Given the description of an element on the screen output the (x, y) to click on. 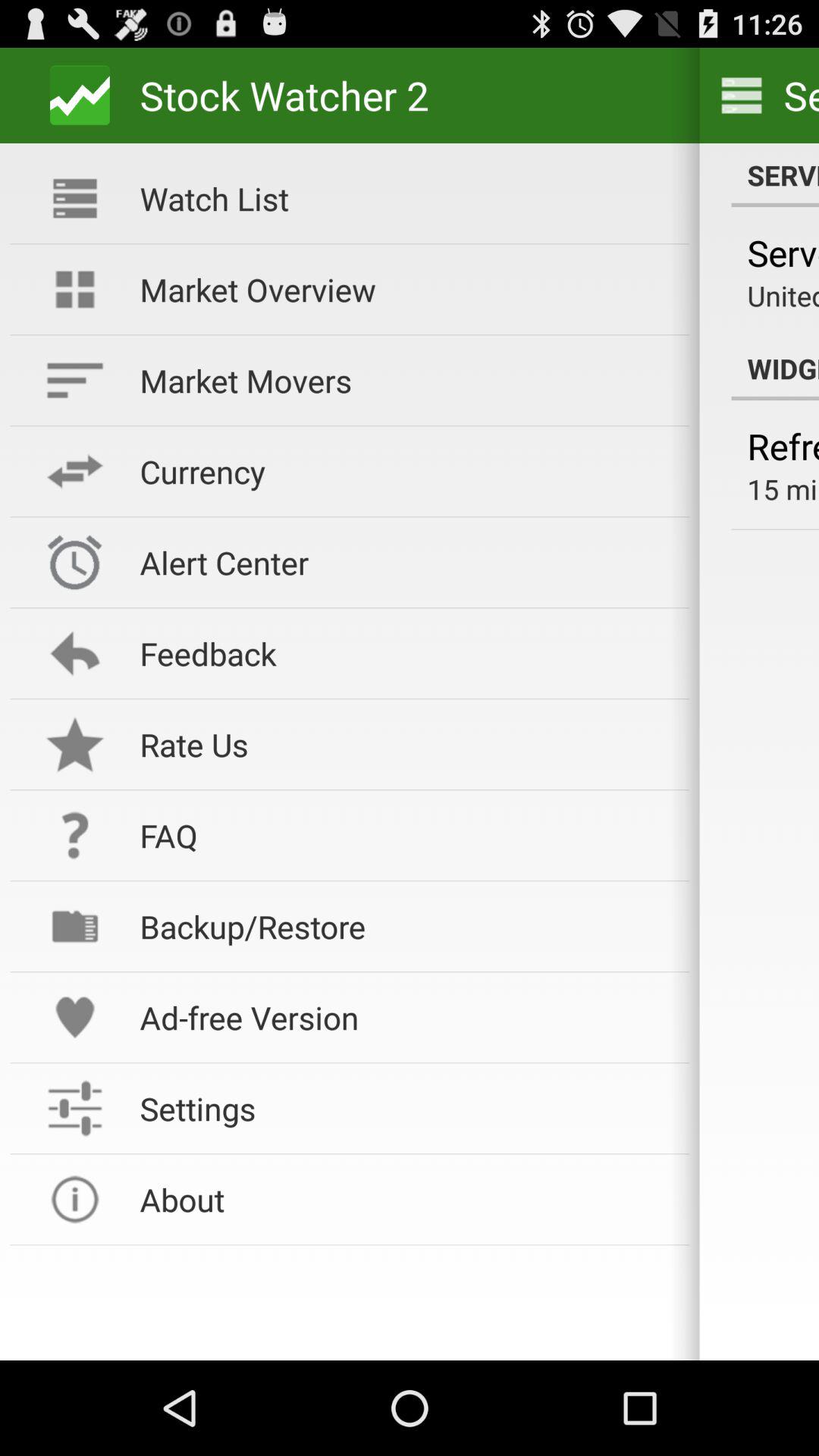
open the 15 minutes on the right (783, 488)
